Given the description of an element on the screen output the (x, y) to click on. 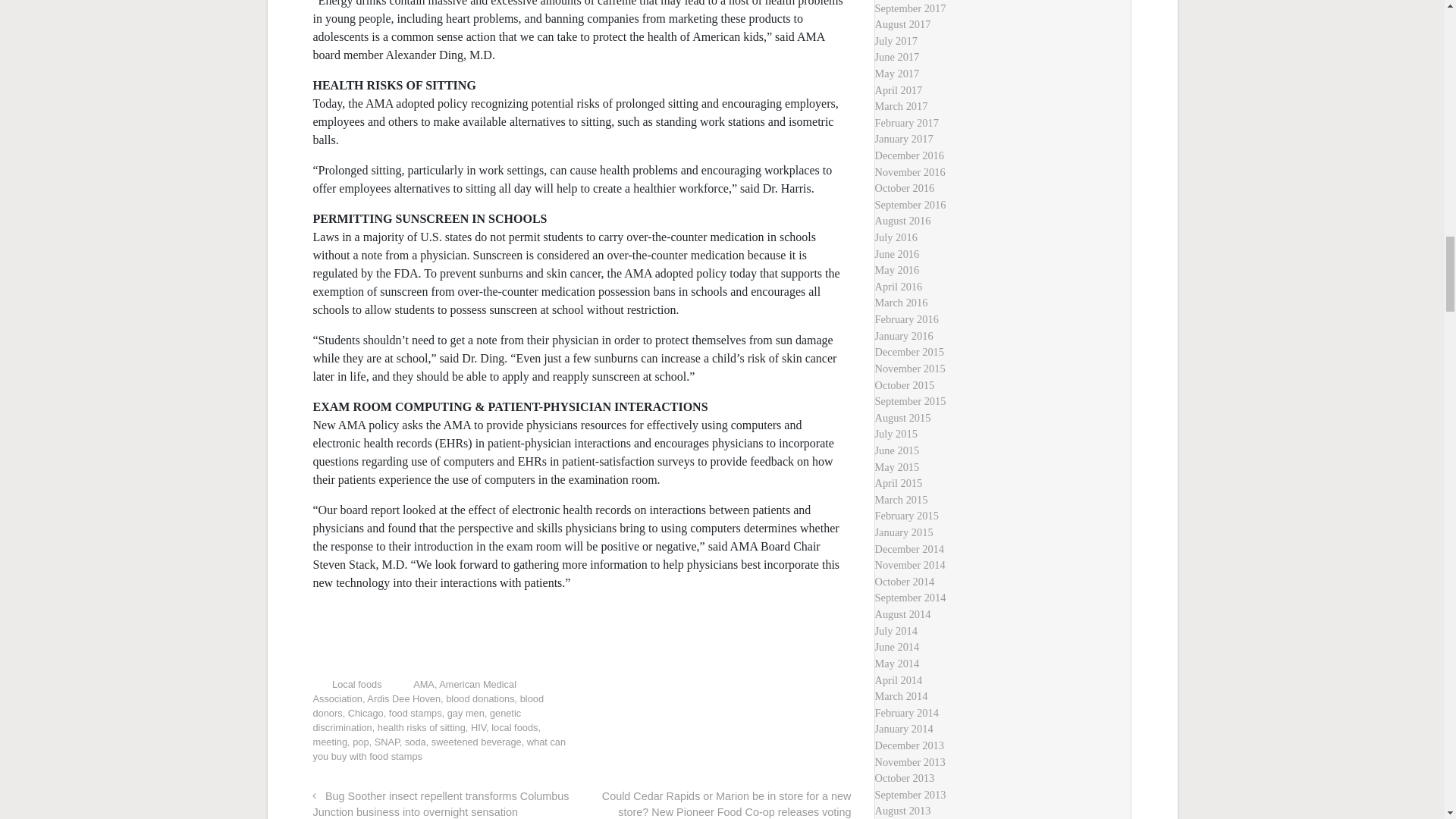
Local foods (356, 684)
American Medical Association (414, 691)
pop (360, 741)
food stamps (415, 713)
local foods (514, 727)
Ardis Dee Hoven (403, 698)
Chicago (365, 713)
SNAP (386, 741)
what can you buy with food stamps (439, 749)
gay men (465, 713)
genetic discrimination (417, 720)
meeting (330, 741)
blood donations (479, 698)
AMA (423, 684)
HIV (478, 727)
